Given the description of an element on the screen output the (x, y) to click on. 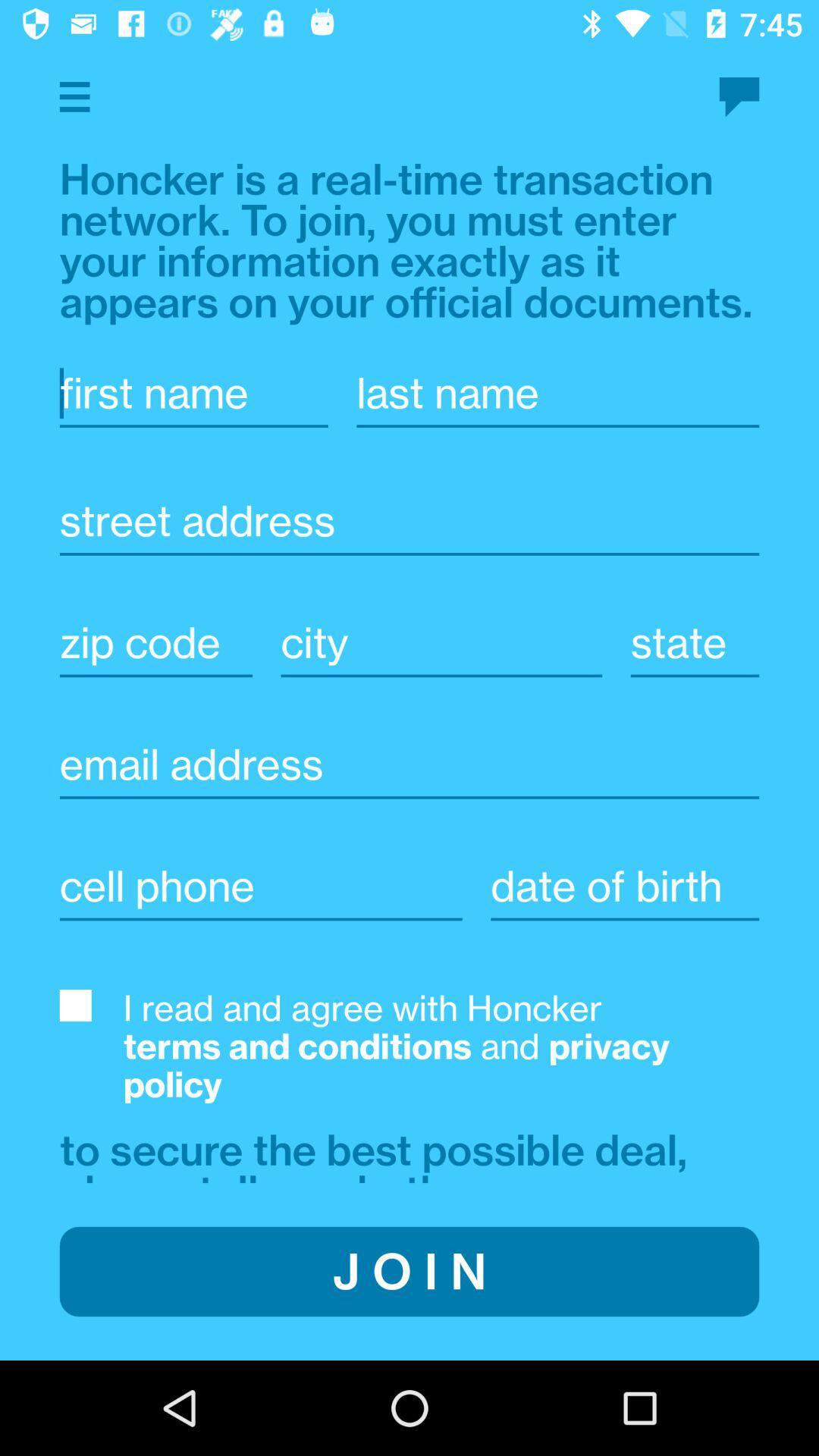
text field for your zip code (155, 642)
